Given the description of an element on the screen output the (x, y) to click on. 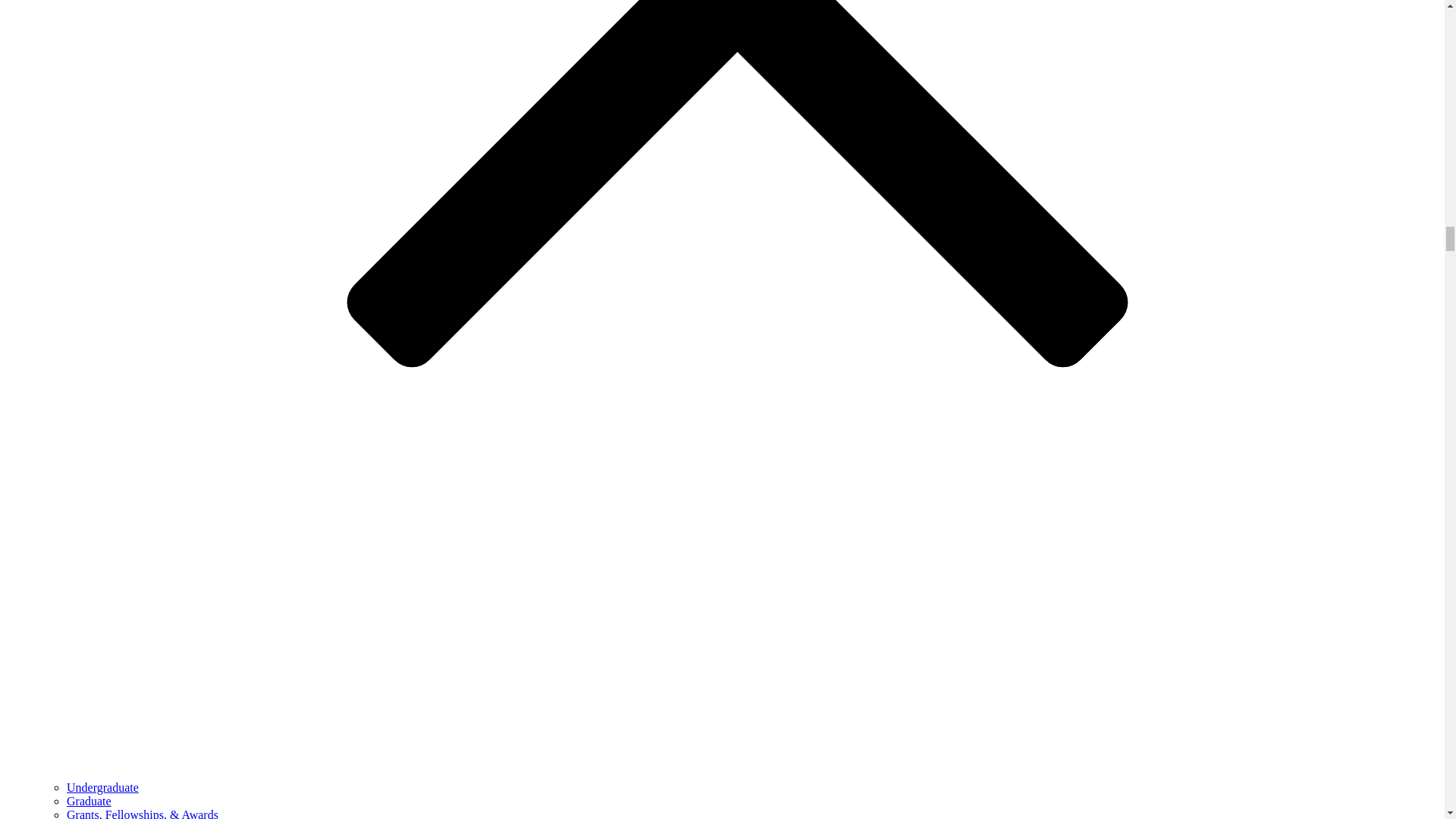
Graduate (89, 800)
Undergraduate (102, 787)
